Given the description of an element on the screen output the (x, y) to click on. 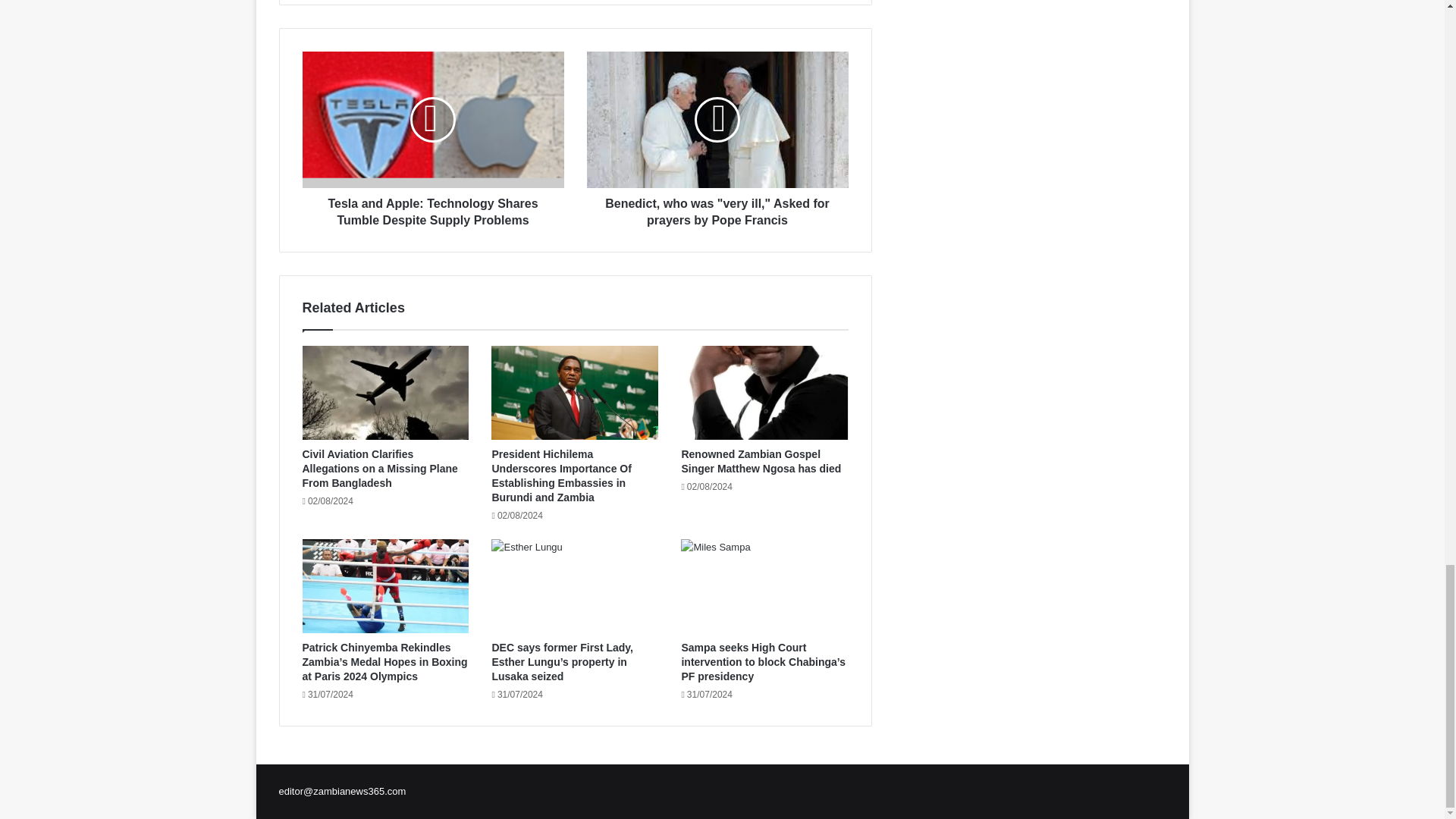
Renowned Zambian Gospel Singer Matthew Ngosa has died (761, 461)
